Given the description of an element on the screen output the (x, y) to click on. 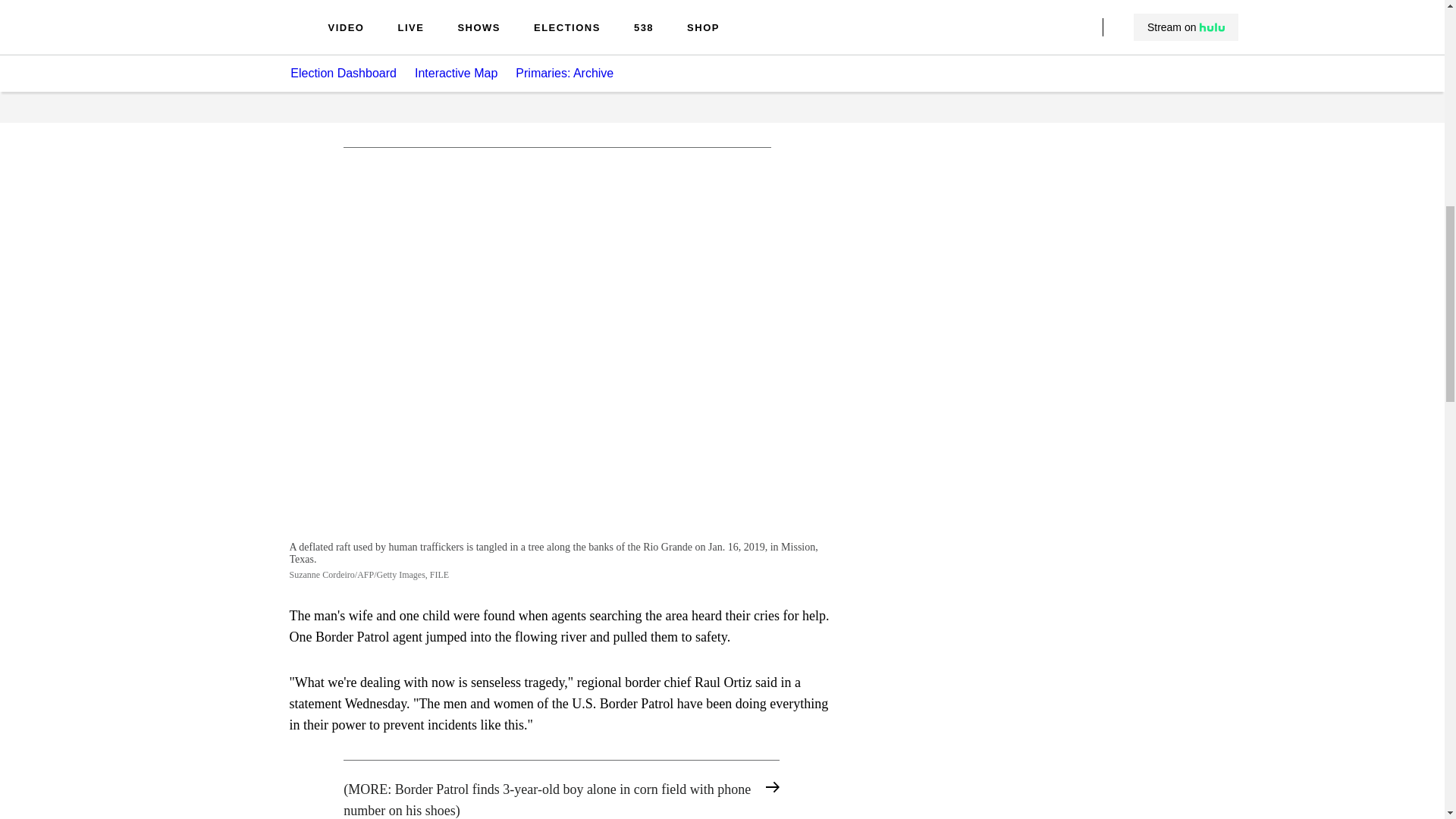
apprehended for crossing into the U.S. illegally (557, 18)
